Given the description of an element on the screen output the (x, y) to click on. 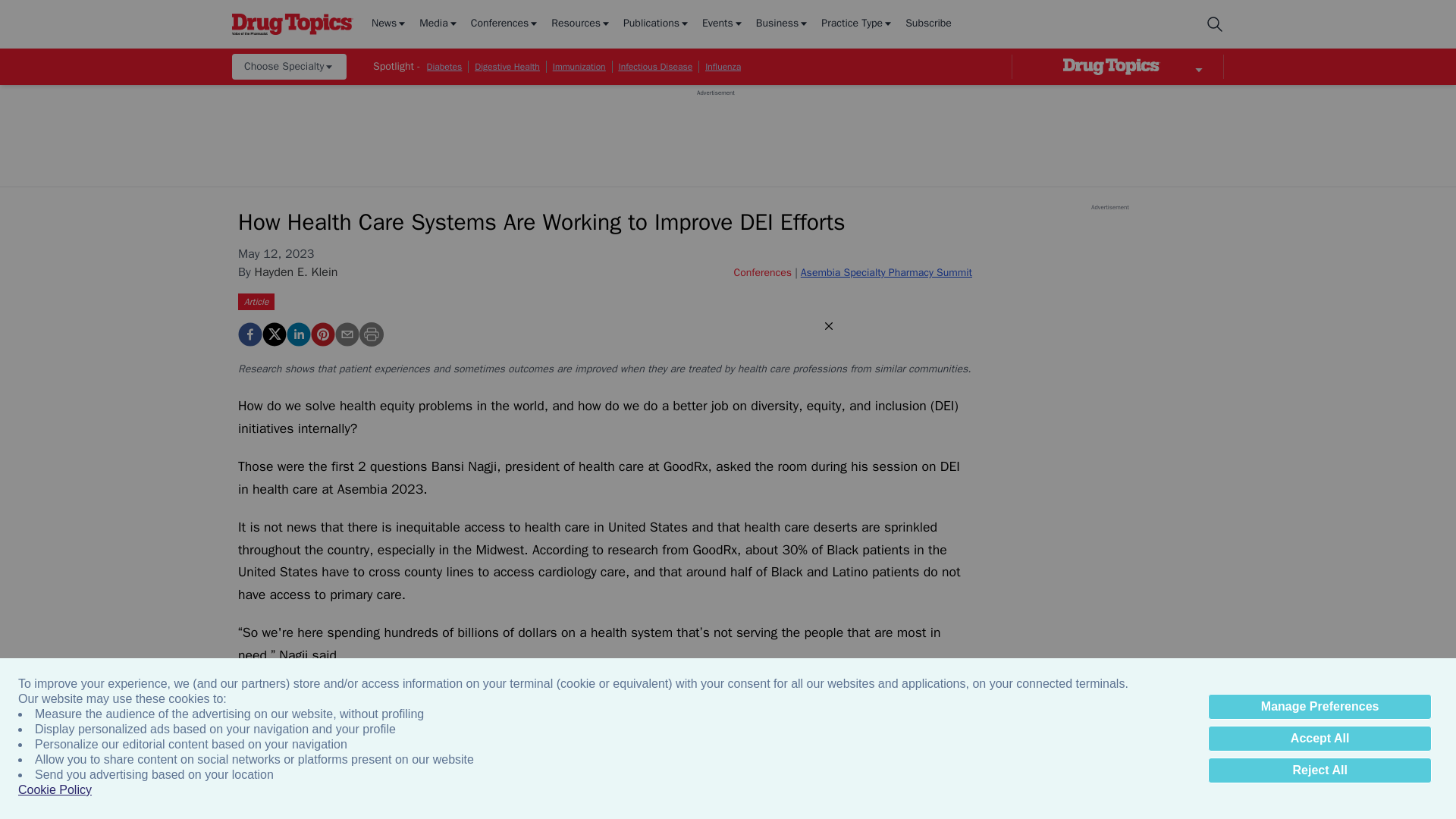
Accept All (1319, 738)
3rd party ad content (715, 131)
Manage Preferences (1319, 706)
Events (722, 23)
Resources (581, 23)
Publications (656, 23)
How Health Care Systems Are Working to Improve DEI Efforts (322, 334)
Reject All (1319, 769)
How Health Care Systems Are Working to Improve DEI Efforts (250, 334)
Cookie Policy (54, 789)
Media (438, 23)
News (389, 23)
Conferences (505, 23)
